Given the description of an element on the screen output the (x, y) to click on. 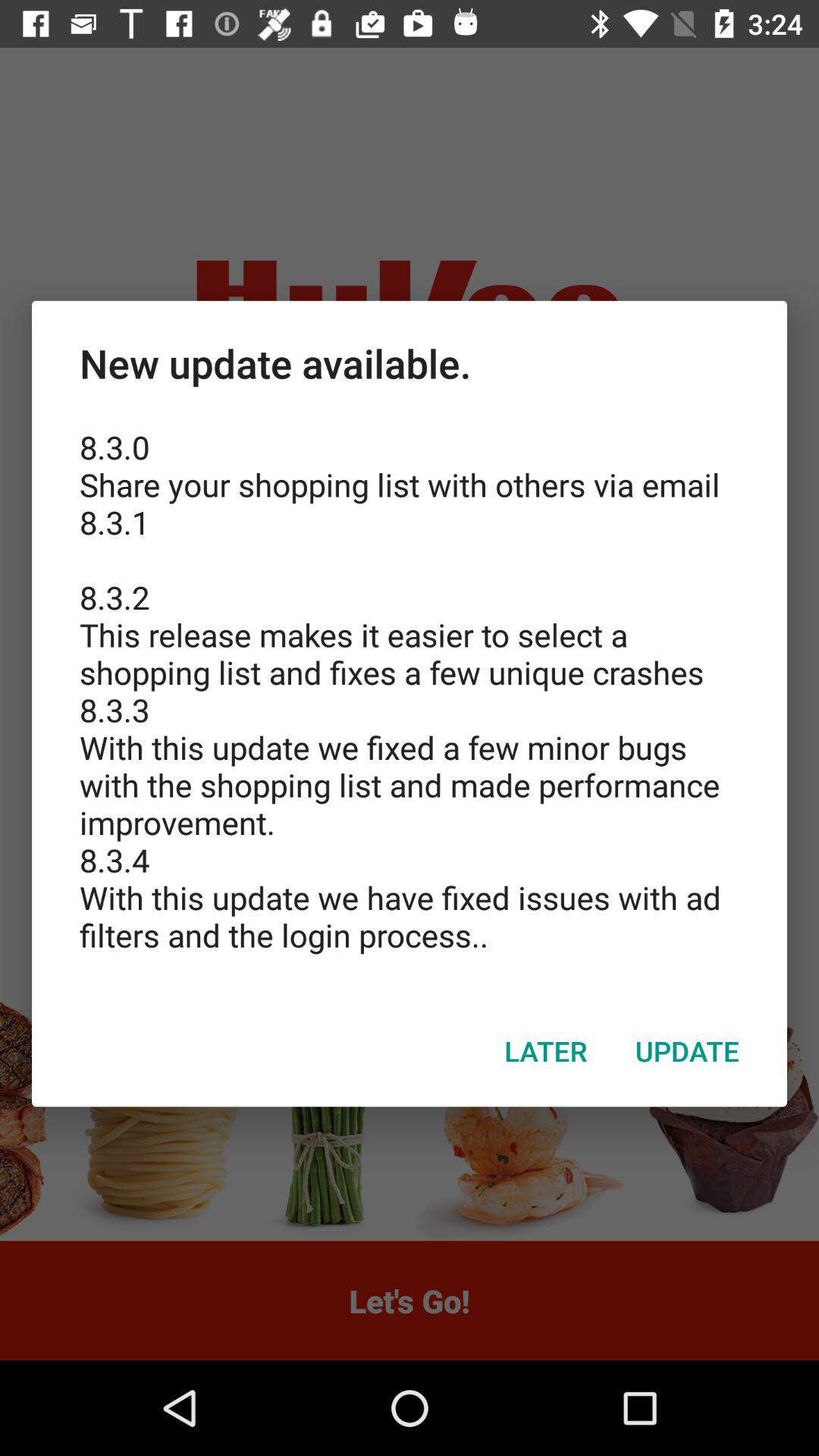
flip until later icon (545, 1050)
